Given the description of an element on the screen output the (x, y) to click on. 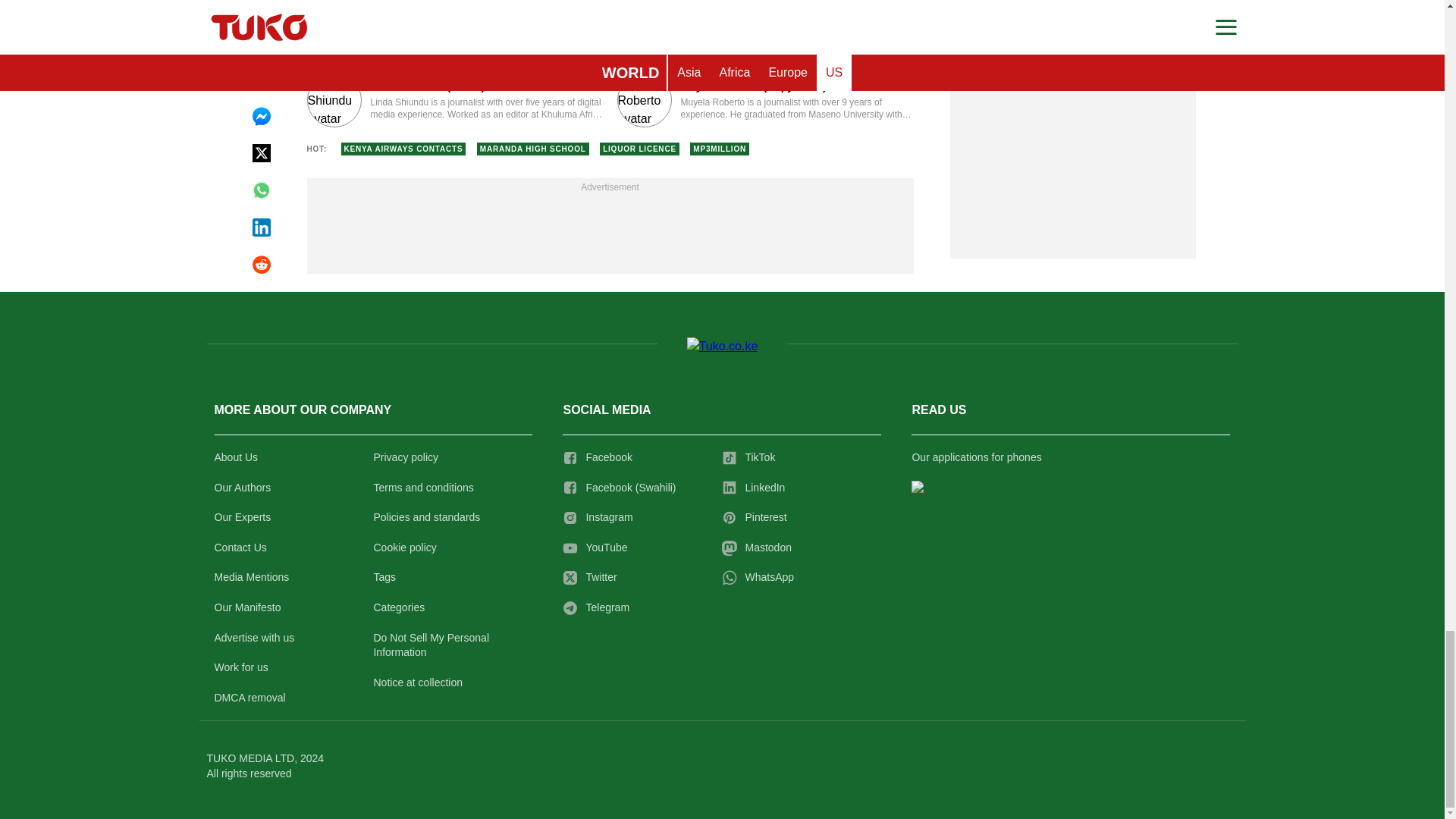
Author page (453, 99)
Author page (765, 99)
